Given the description of an element on the screen output the (x, y) to click on. 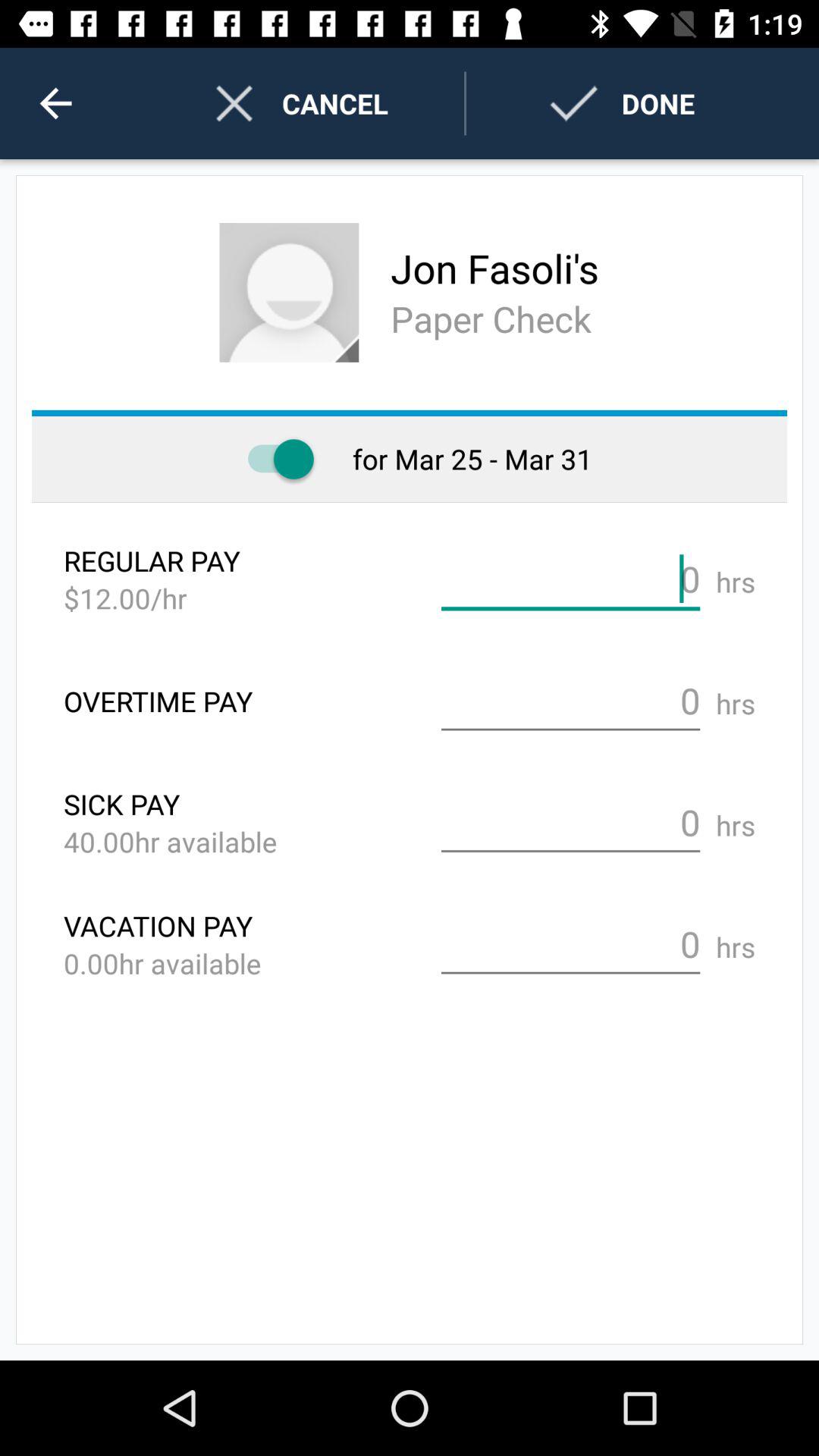
turn off icon next to cancel (55, 103)
